Given the description of an element on the screen output the (x, y) to click on. 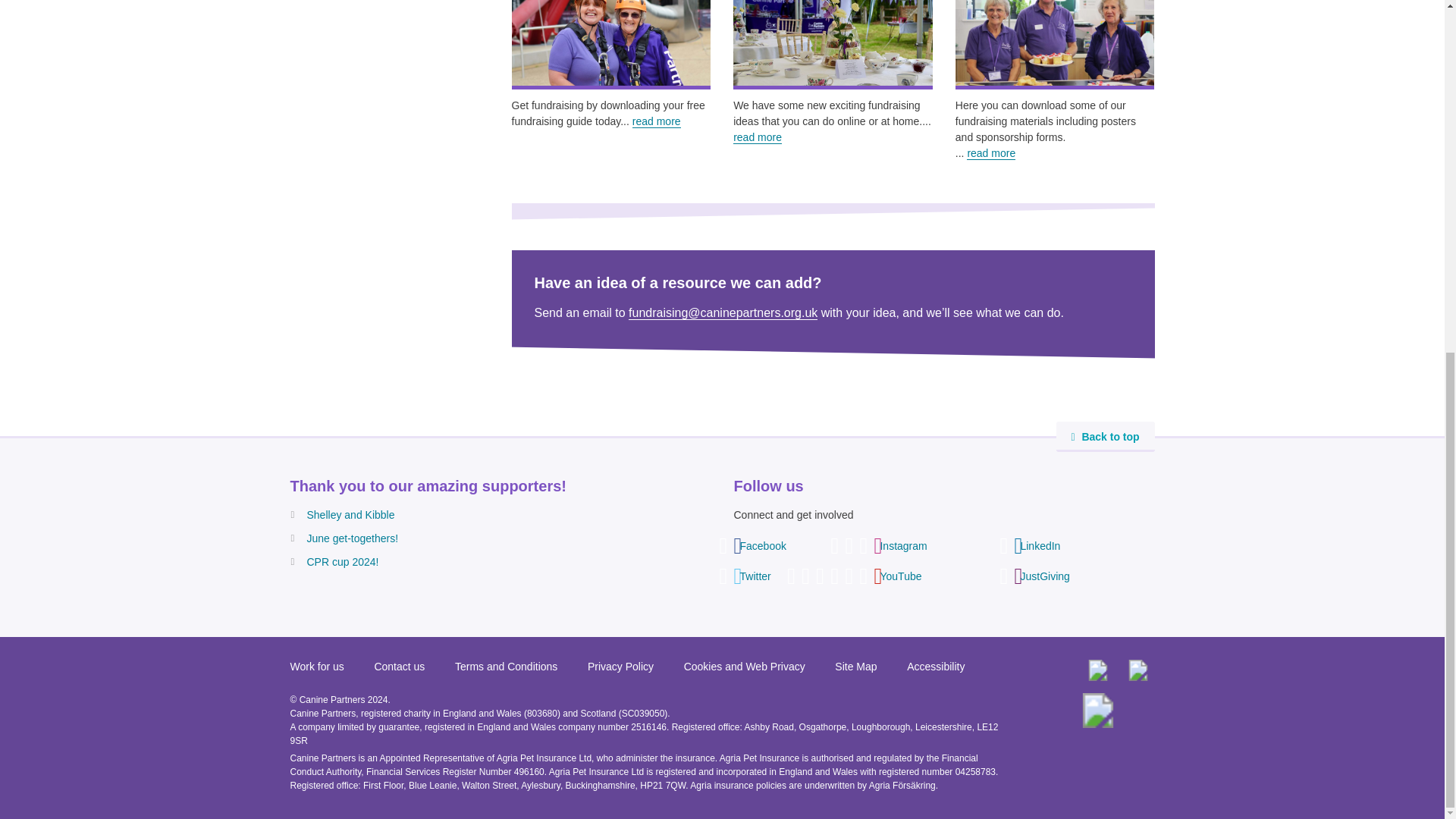
Read more (656, 121)
Read more (757, 137)
Fundraising Ideas (833, 45)
Fundraising Guide (610, 45)
